Given the description of an element on the screen output the (x, y) to click on. 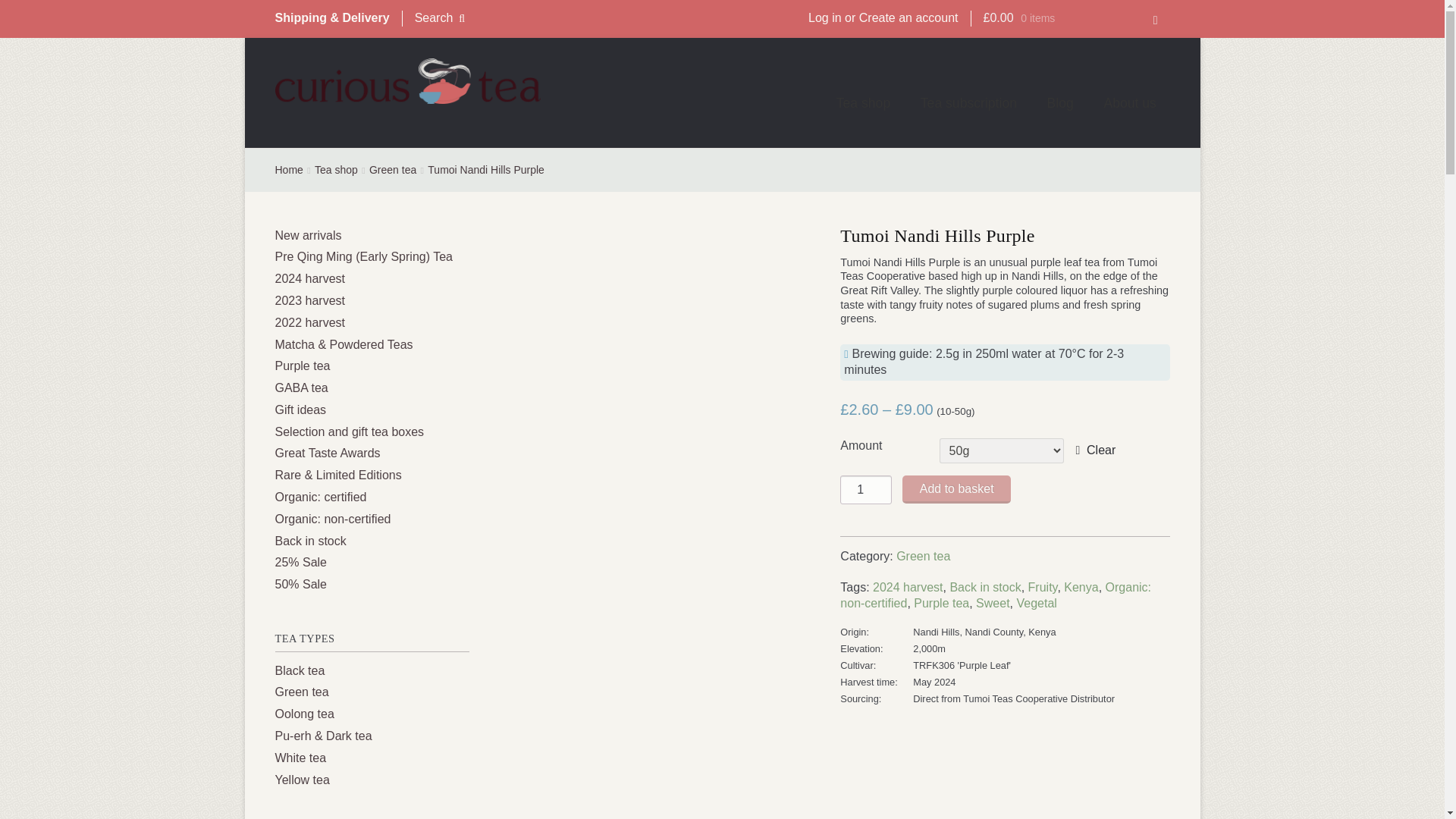
Blog (1059, 103)
View your shopping basket (1070, 23)
Tea shop (336, 169)
Log in or Create an account (883, 18)
Home (288, 169)
Kenya (1080, 586)
Back in stock (984, 586)
1 (865, 489)
Organic: non-certified (995, 594)
Clear (1095, 450)
Green tea (923, 555)
Tea subscription (968, 103)
Vegetal (1036, 603)
Sweet (992, 603)
About us (1130, 103)
